Given the description of an element on the screen output the (x, y) to click on. 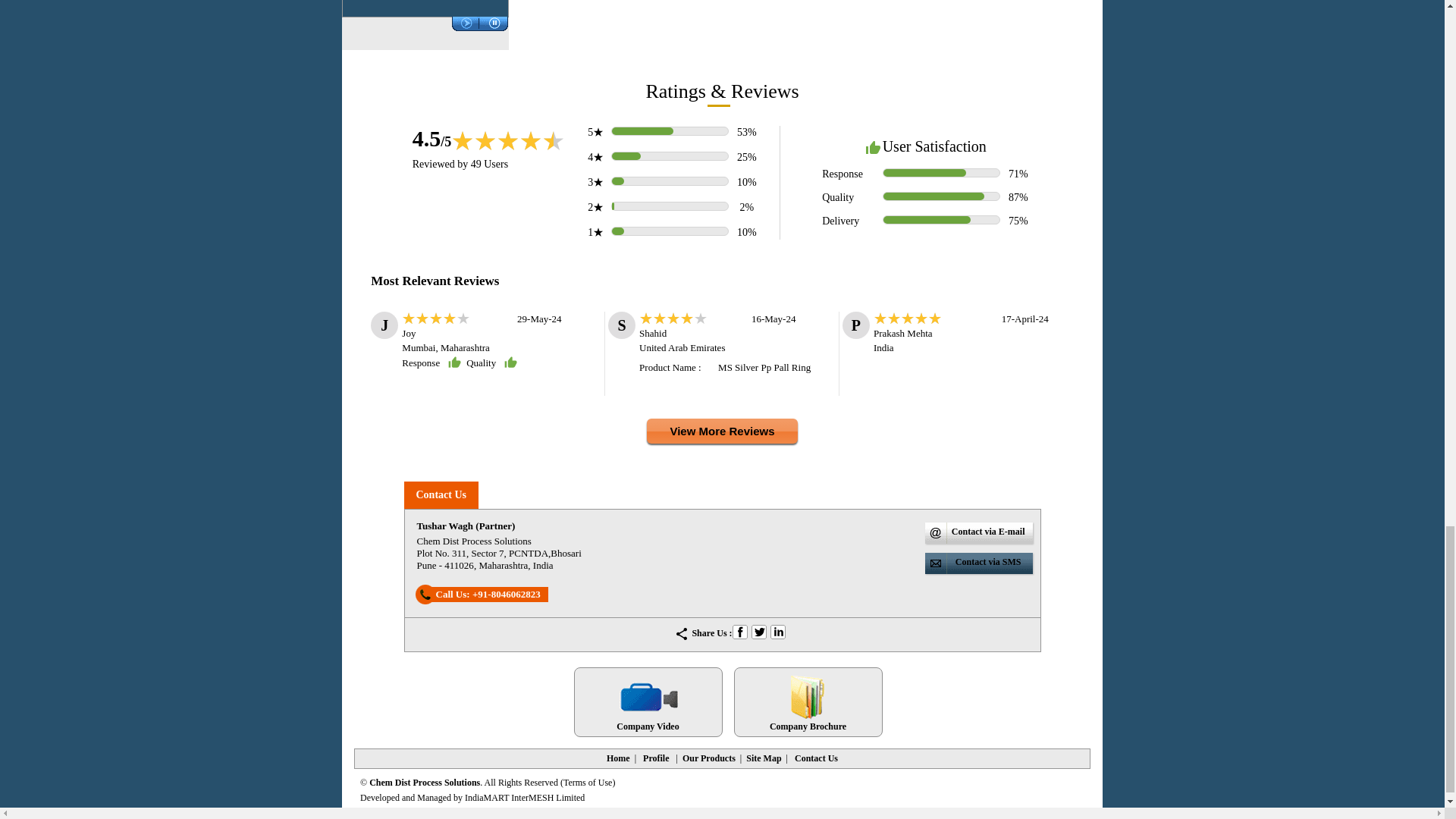
4.5 out of 5 Votes (431, 138)
